Given the description of an element on the screen output the (x, y) to click on. 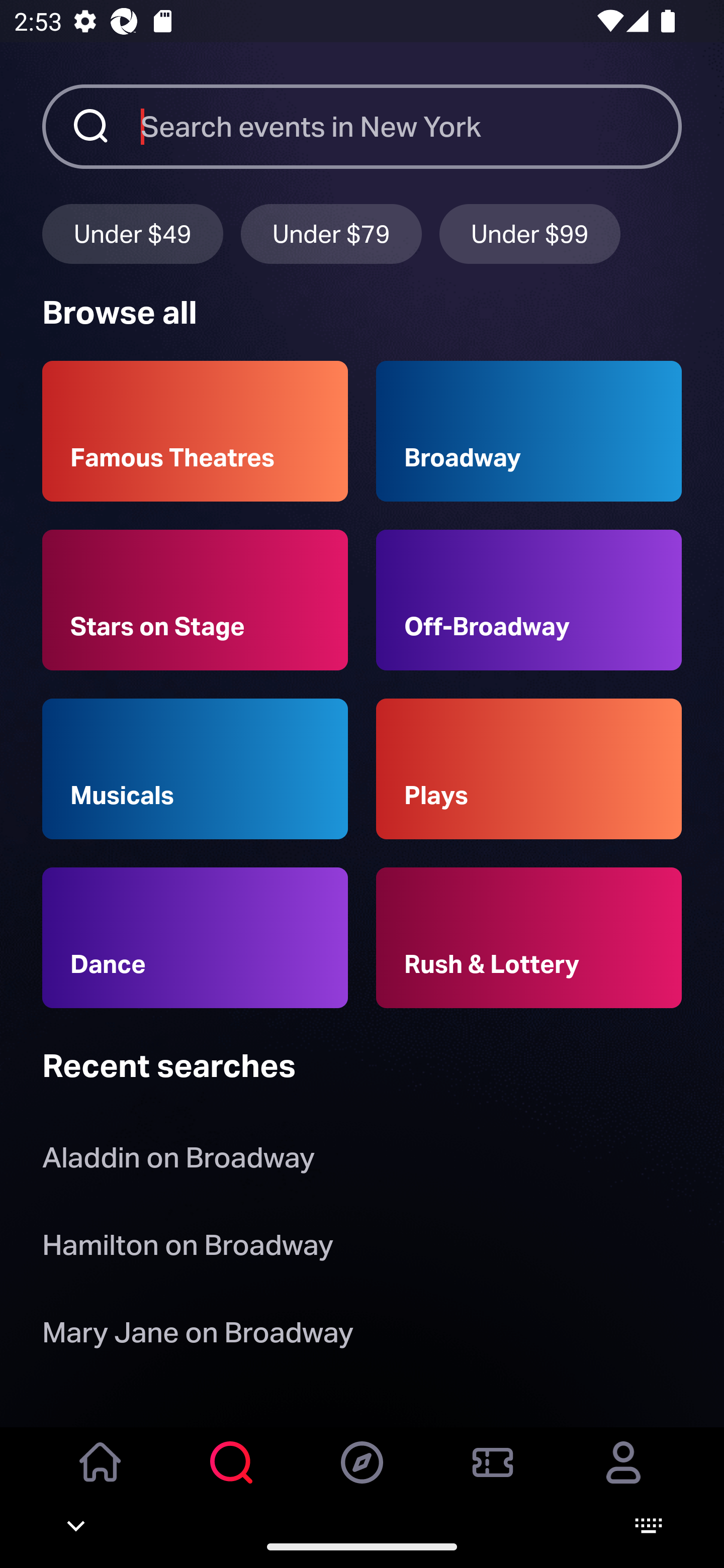
Search events in New York (411, 126)
Under $49 (131, 233)
Under $79 (331, 233)
Under $99 (529, 233)
Famous Theatres (194, 430)
Broadway (528, 430)
Stars on Stage (194, 600)
Off-Broadway (528, 600)
Musicals (194, 768)
Plays (528, 768)
Dance (194, 937)
Rush & Lottery (528, 937)
Aladdin on Broadway (177, 1161)
Hamilton on Broadway (187, 1248)
Mary Jane on Broadway (197, 1335)
Home (100, 1475)
Discover (361, 1475)
Orders (492, 1475)
Account (623, 1475)
